Given the description of an element on the screen output the (x, y) to click on. 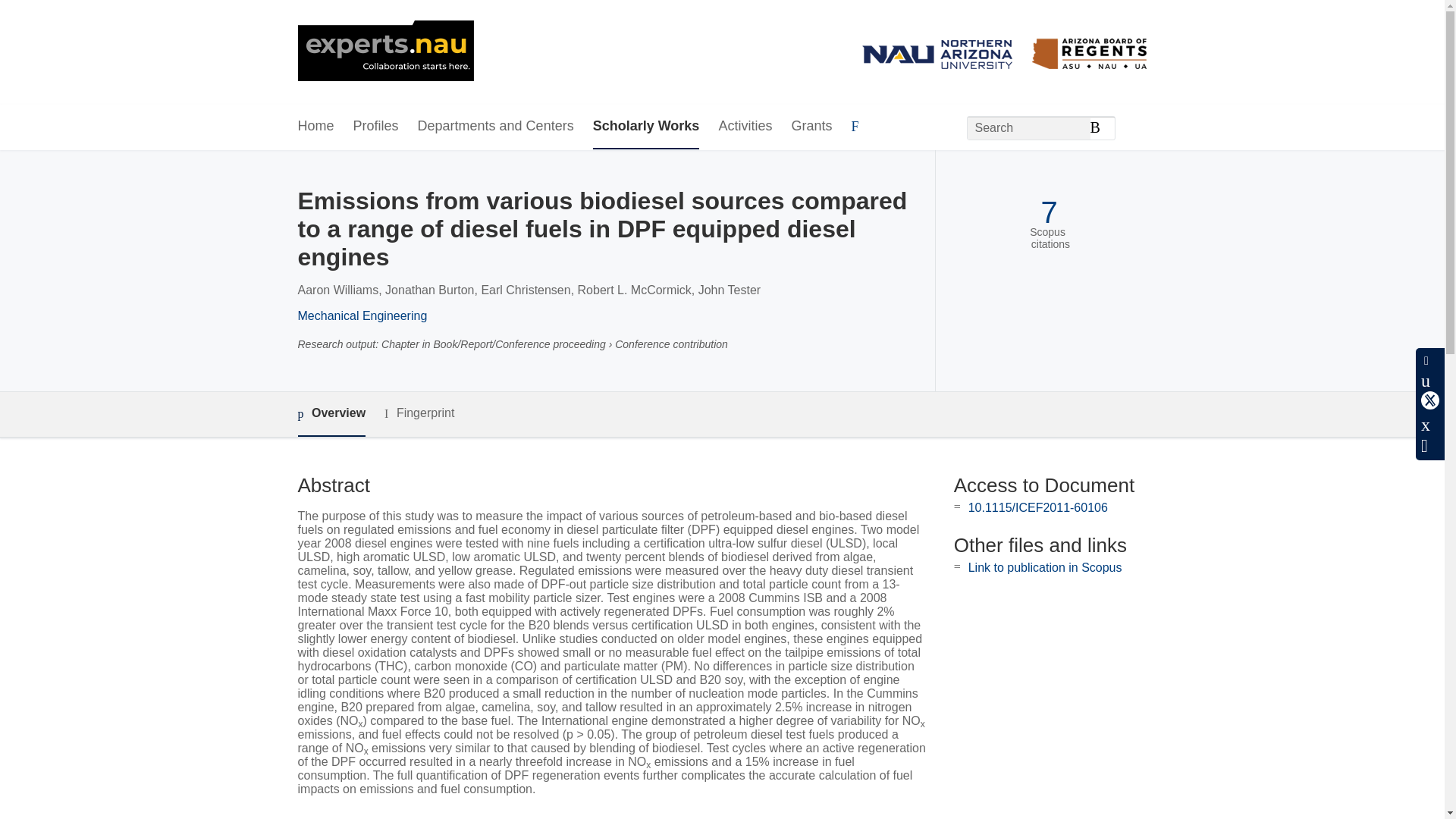
Activities (744, 126)
Overview (331, 414)
Departments and Centers (495, 126)
Link to publication in Scopus (1045, 567)
Mechanical Engineering (361, 315)
Fingerprint (419, 413)
Grants (810, 126)
Profiles (375, 126)
Northern Arizona University Home (385, 52)
Scholarly Works (646, 126)
